Given the description of an element on the screen output the (x, y) to click on. 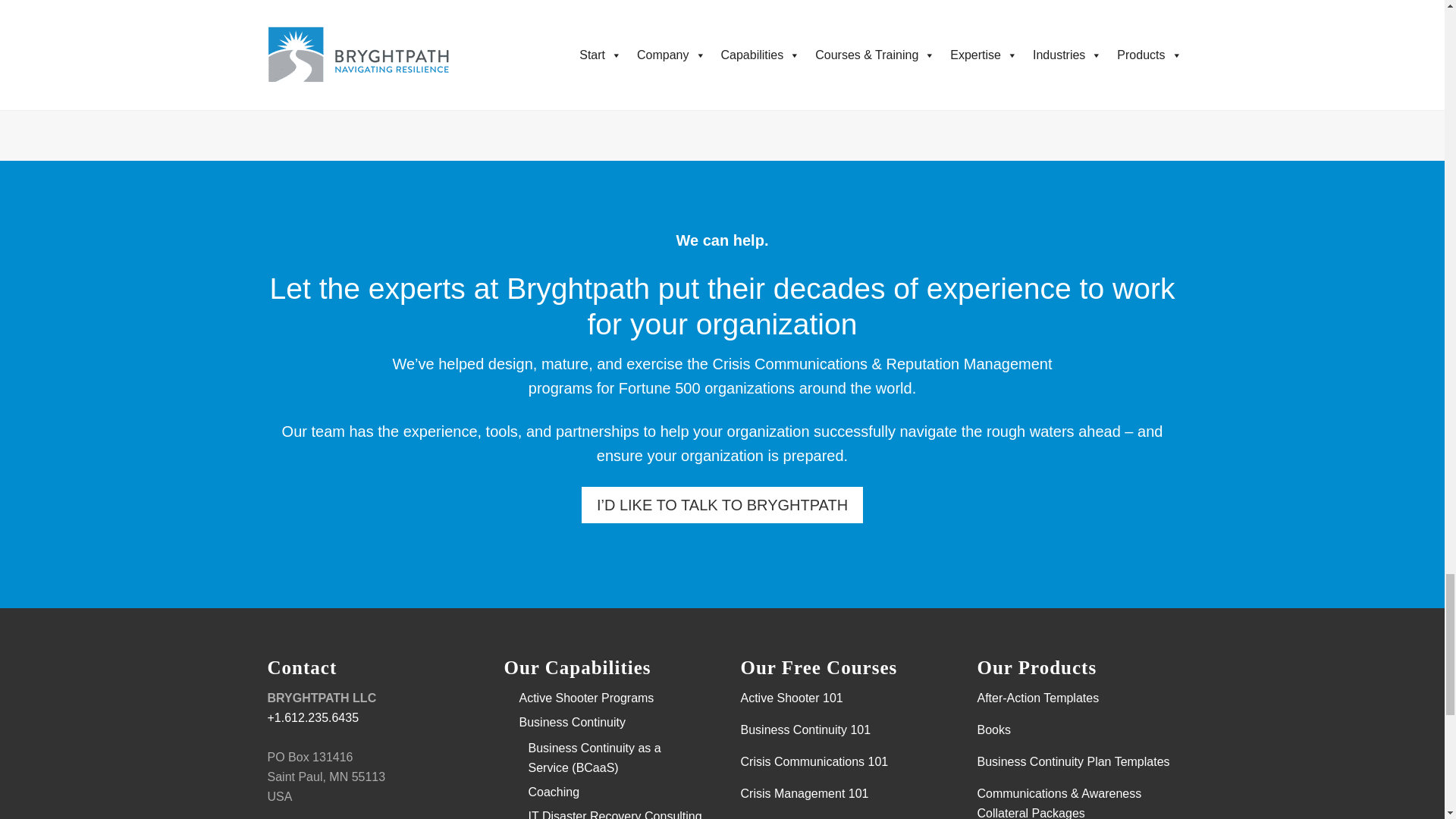
Download this Case Study (352, 76)
